Given the description of an element on the screen output the (x, y) to click on. 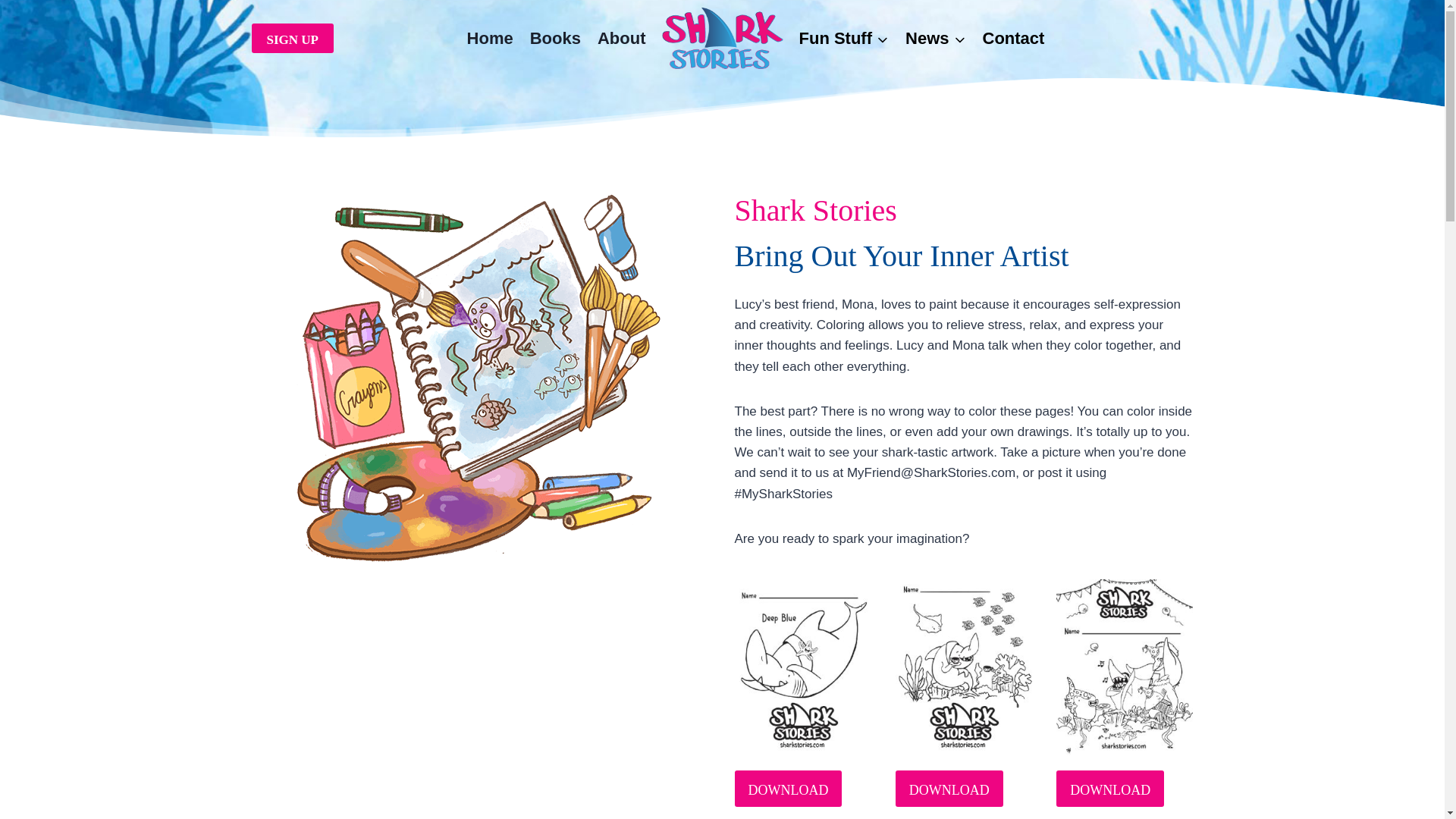
News (935, 38)
Home (489, 38)
DOWNLOAD (949, 788)
Contact (1013, 38)
Books (555, 38)
About (621, 38)
DOWNLOAD (1110, 788)
SIGN UP (292, 38)
Fun Stuff (843, 38)
